Given the description of an element on the screen output the (x, y) to click on. 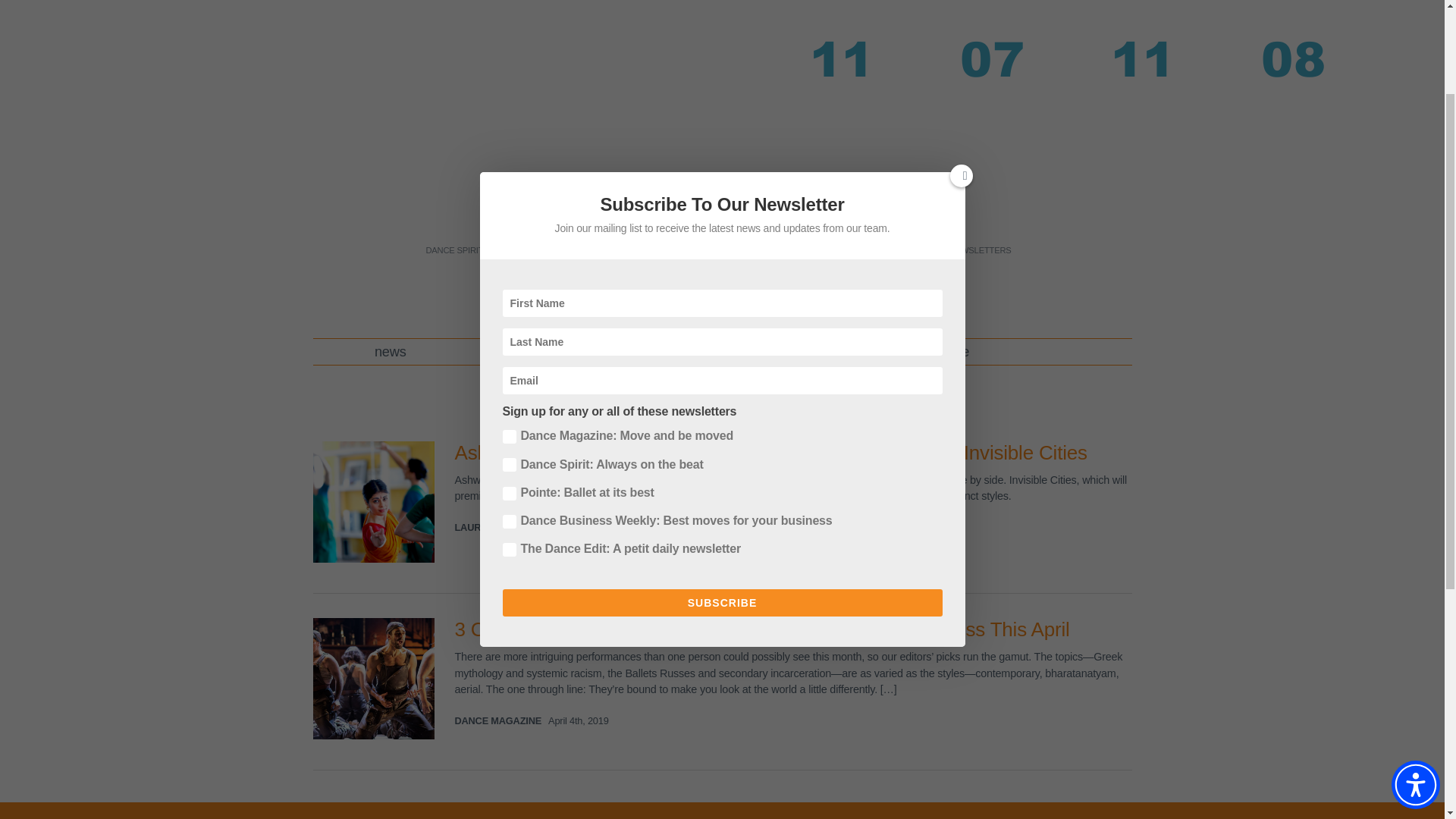
Posts by Lauren Wingenroth (508, 527)
NEWSLETTERS (980, 249)
guides (662, 351)
news (390, 351)
DANCE SPIRIT (454, 249)
COLLEGE GUIDE (897, 249)
more (797, 351)
Accessibility Menu (1415, 647)
DANCE TEACHER (535, 249)
Posts by Dance Magazine (497, 720)
POINTE MAGAZINE (625, 249)
career (523, 351)
THE DANCE EDIT (715, 249)
subscribe (940, 351)
